Given the description of an element on the screen output the (x, y) to click on. 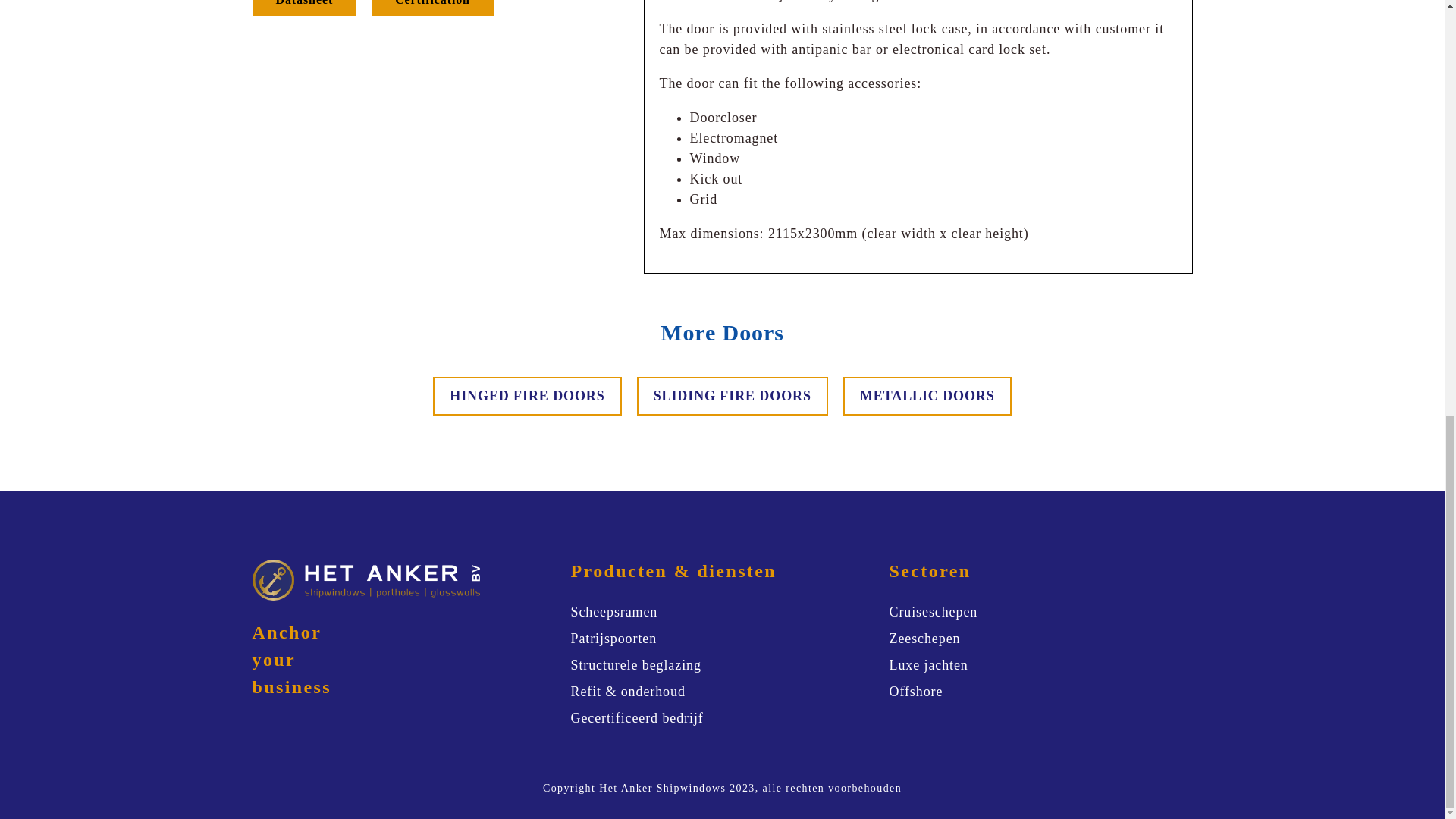
Gecertificeerd bedrijf (636, 718)
Luxe jachten (928, 665)
Scheepsramen (614, 611)
METALLIC DOORS (927, 395)
Certification (432, 7)
Zeeschepen (923, 638)
Datasheet (303, 7)
SLIDING FIRE DOORS (732, 395)
HINGED FIRE DOORS (526, 395)
Patrijspoorten (613, 638)
Structurele beglazing (635, 665)
Offshore (915, 691)
Cruiseschepen (932, 611)
